Given the description of an element on the screen output the (x, y) to click on. 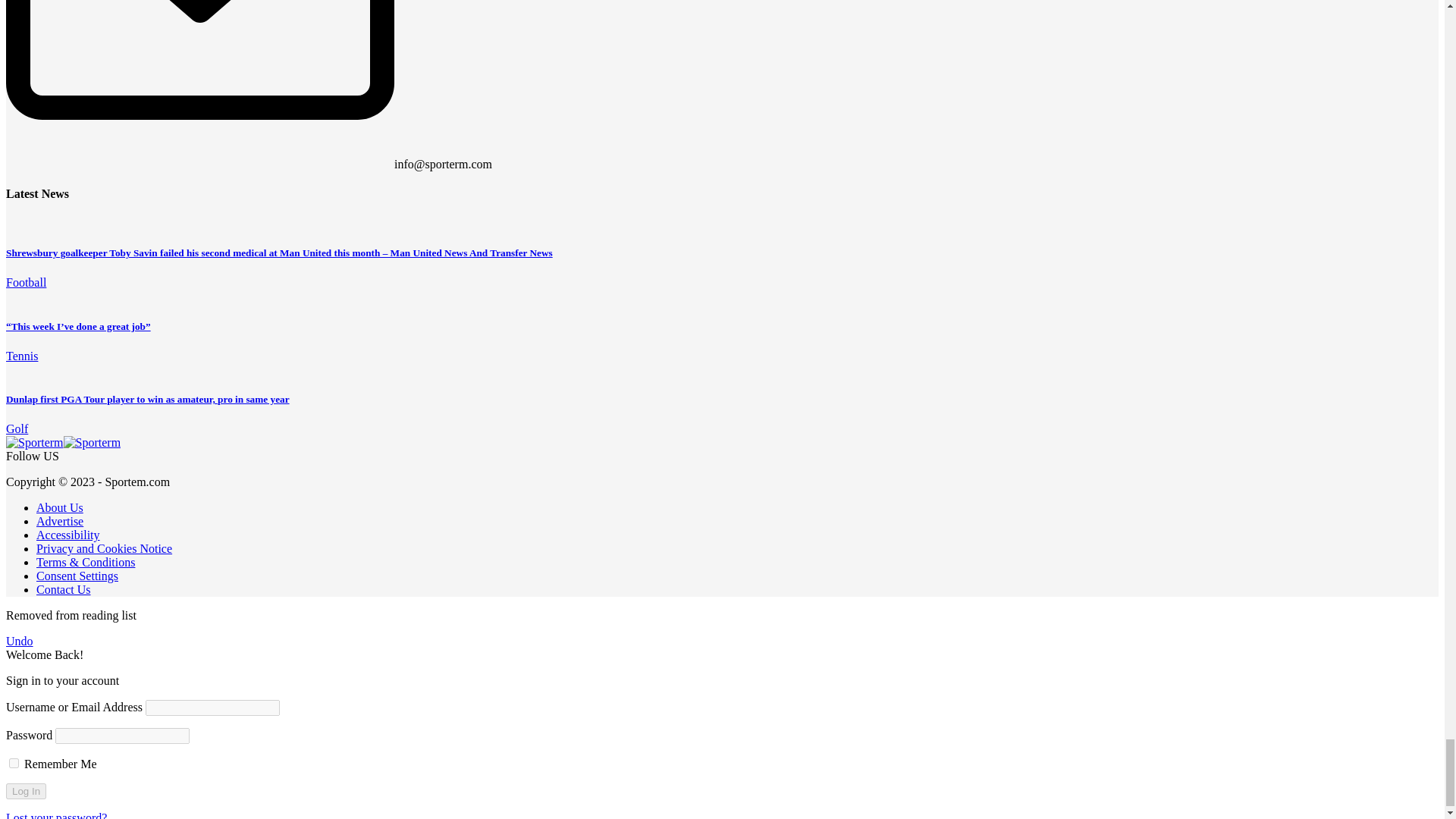
Log In (25, 790)
forever (13, 763)
